Given the description of an element on the screen output the (x, y) to click on. 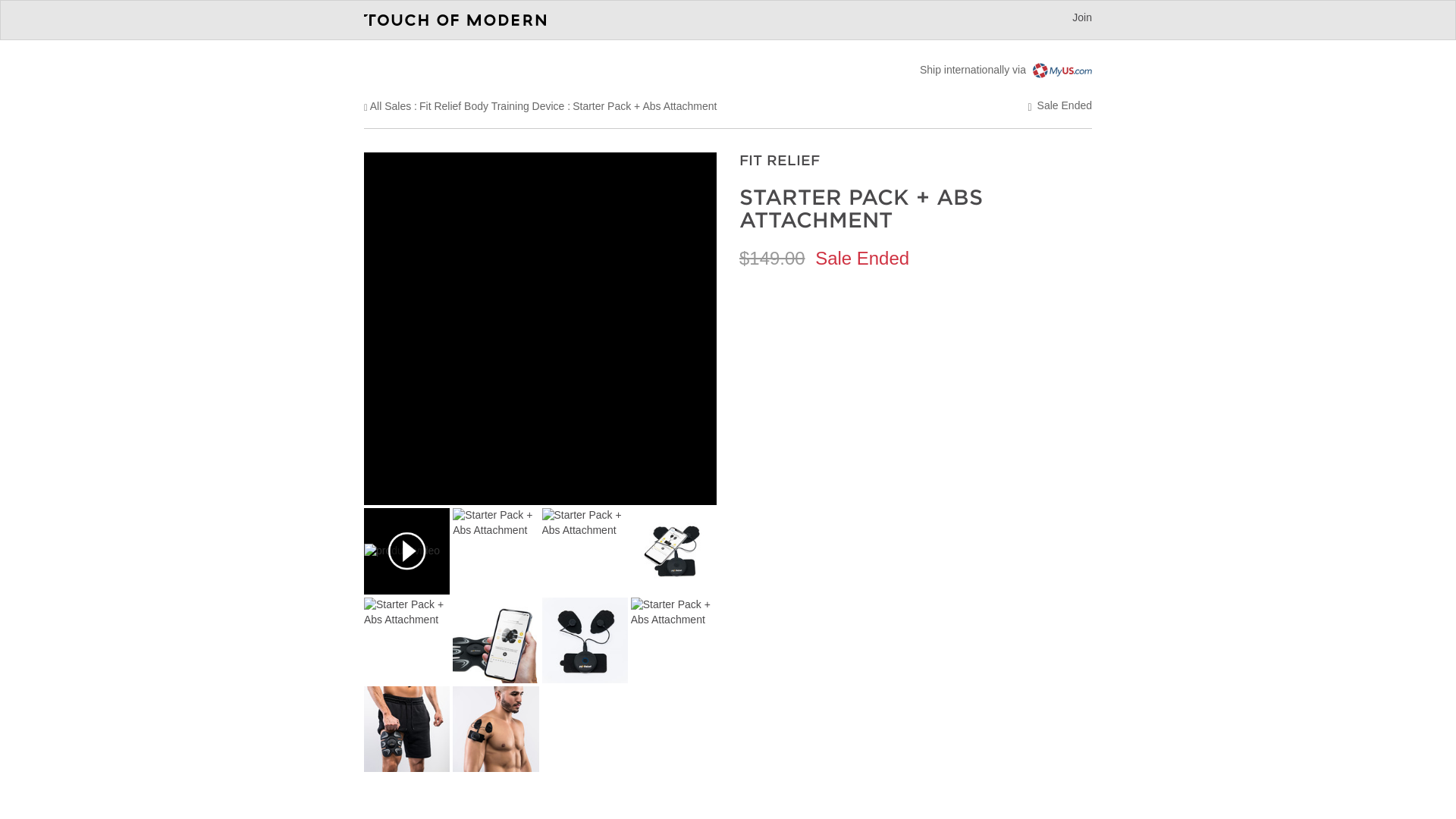
Ship internationally via (1006, 69)
Join (1081, 17)
All Sales (389, 105)
Fit Relief Body Training Device (491, 105)
Fit Relief Body Training Device (491, 105)
All Sales (389, 105)
